Given the description of an element on the screen output the (x, y) to click on. 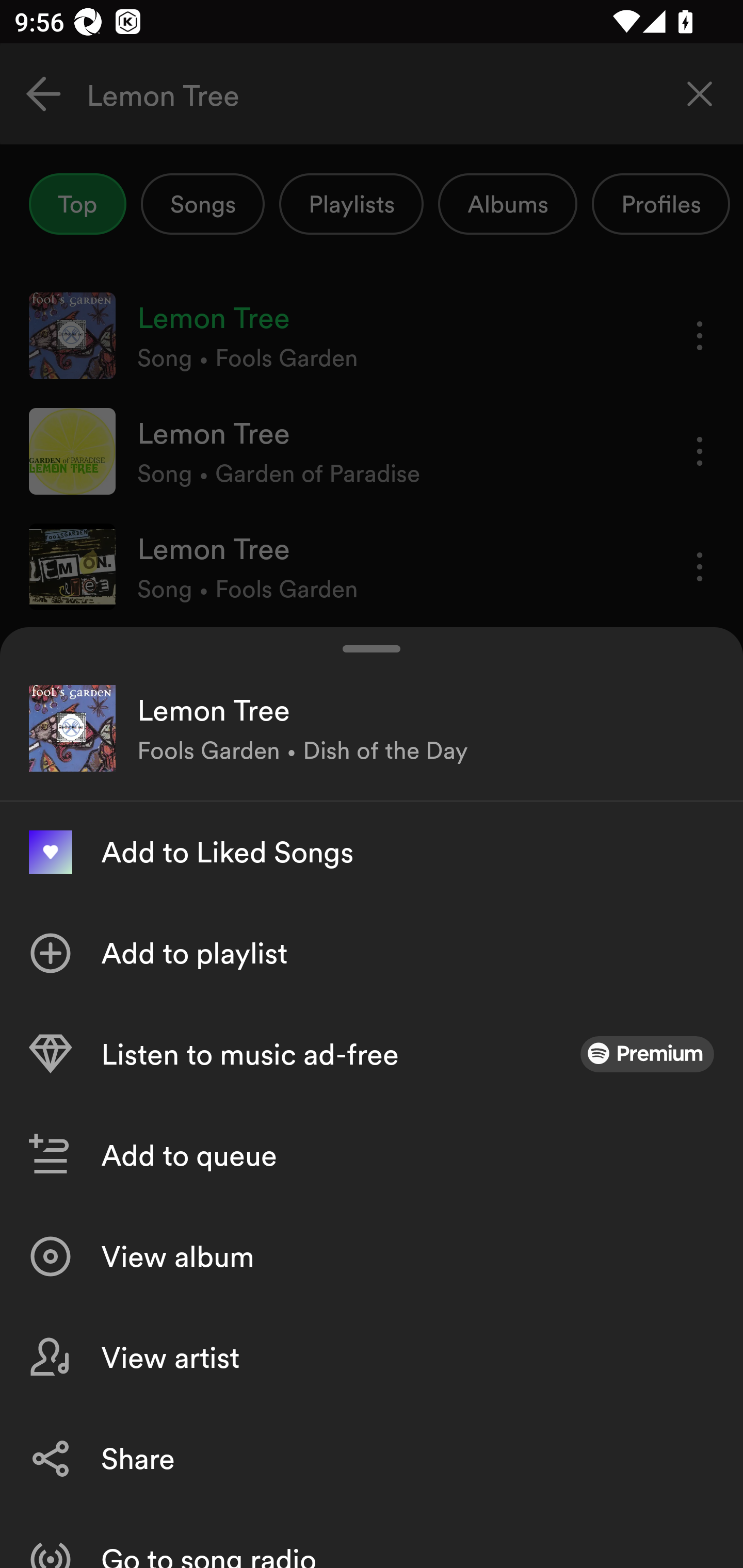
Add to Liked Songs (371, 852)
Add to playlist (371, 953)
Listen to music ad-free (371, 1054)
Add to queue (371, 1155)
View album (371, 1256)
View artist (371, 1357)
Share (371, 1458)
